Given the description of an element on the screen output the (x, y) to click on. 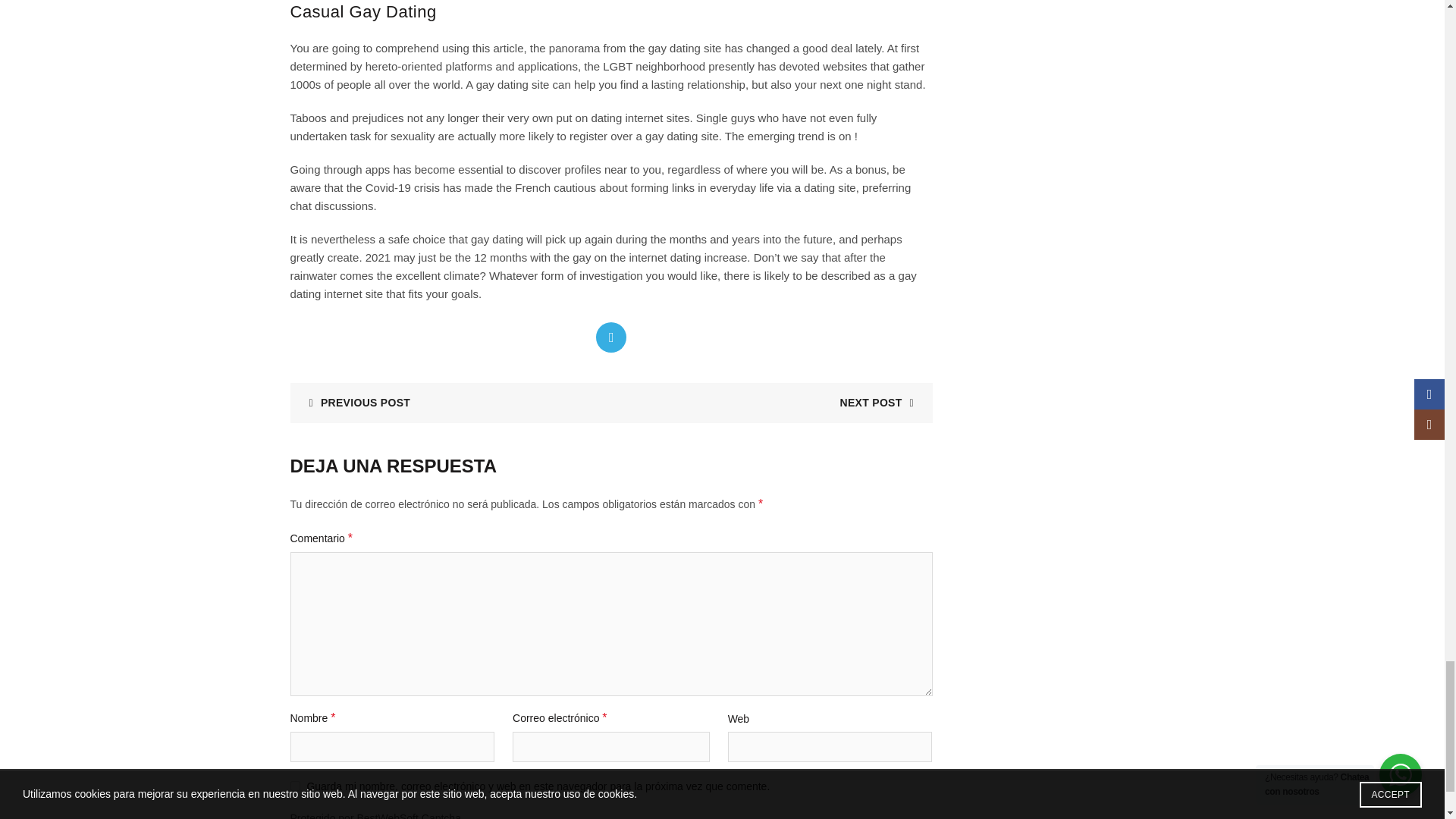
NEXT POST (882, 402)
Telegram (610, 337)
yes (294, 786)
PREVIOUS POST (353, 402)
